Given the description of an element on the screen output the (x, y) to click on. 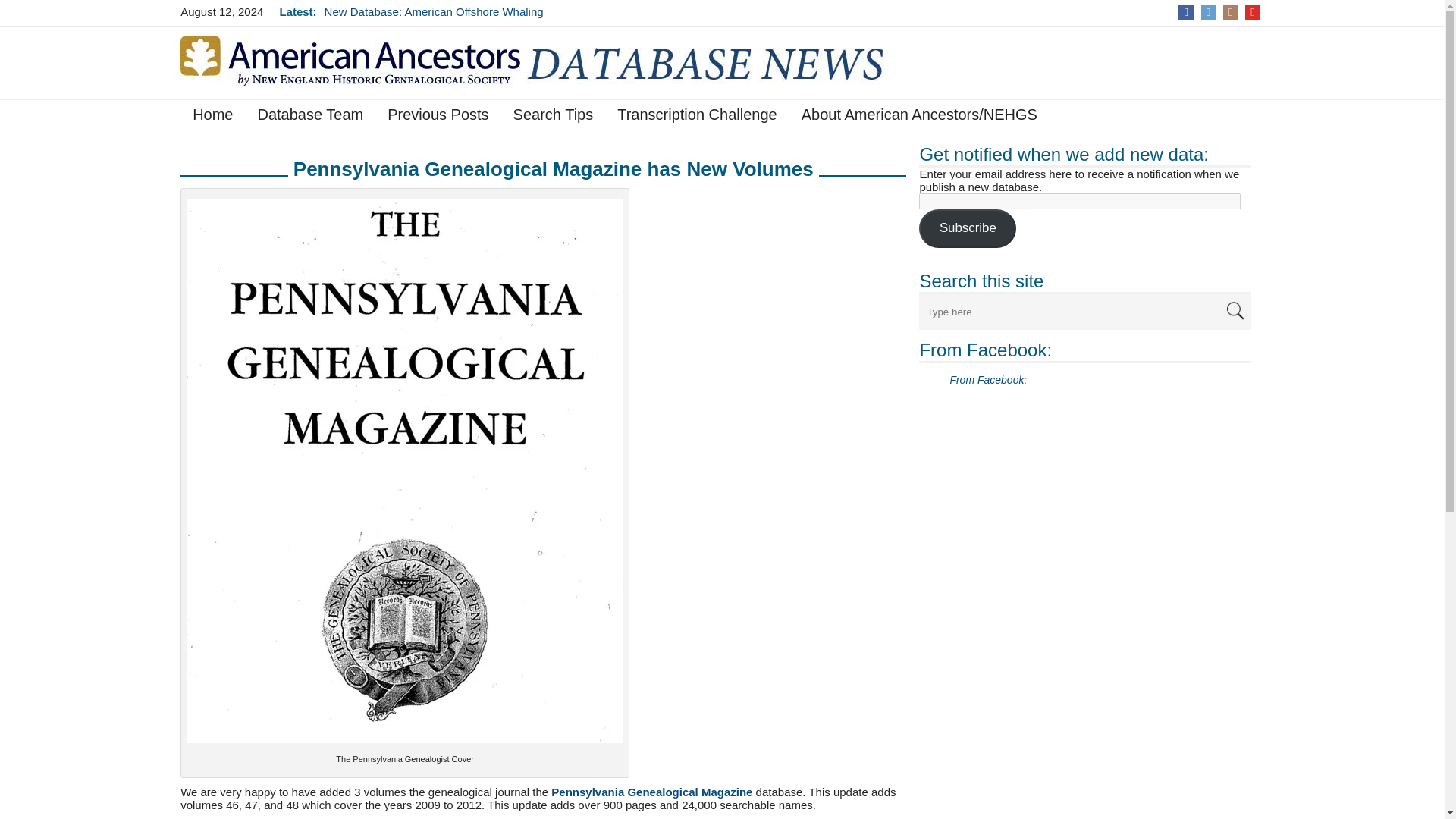
From Facebook: (984, 349)
Previous Posts (437, 117)
American Ancestors Database News (559, 61)
Home (212, 117)
Search (1234, 309)
Search Tips (552, 117)
New Database: American Offshore Whaling Crew Lists 1799-1927 (433, 17)
Transcription Challenge (697, 117)
Subscribe (967, 228)
Pennsylvania Genealogical Magazine (651, 791)
